Given the description of an element on the screen output the (x, y) to click on. 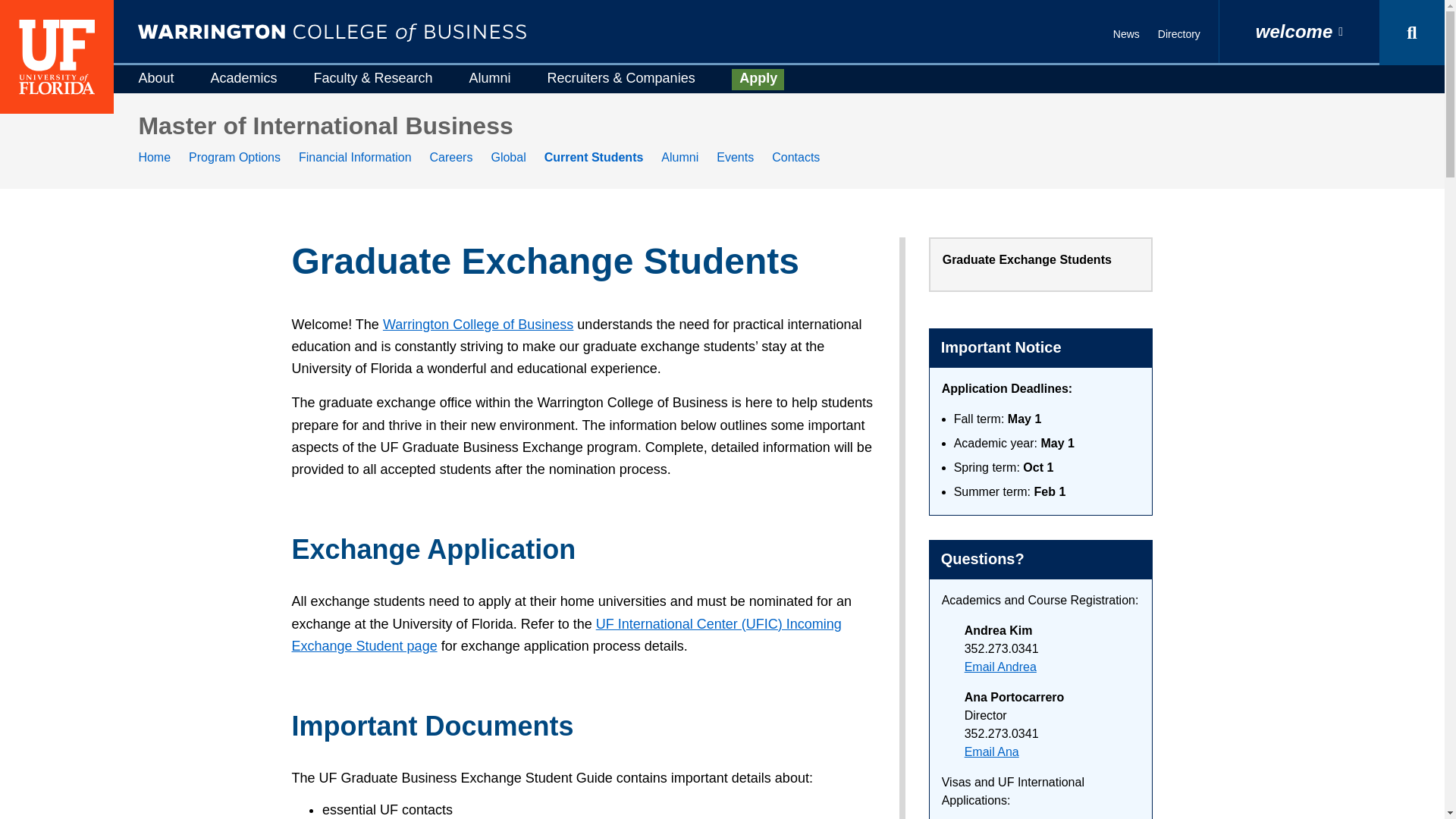
Alumni (489, 78)
UF (56, 56)
Contacts (795, 156)
Careers (451, 156)
Apply (758, 78)
About (155, 78)
Directory (1178, 33)
News (1126, 33)
Alumni (679, 156)
Current Students (593, 156)
